Given the description of an element on the screen output the (x, y) to click on. 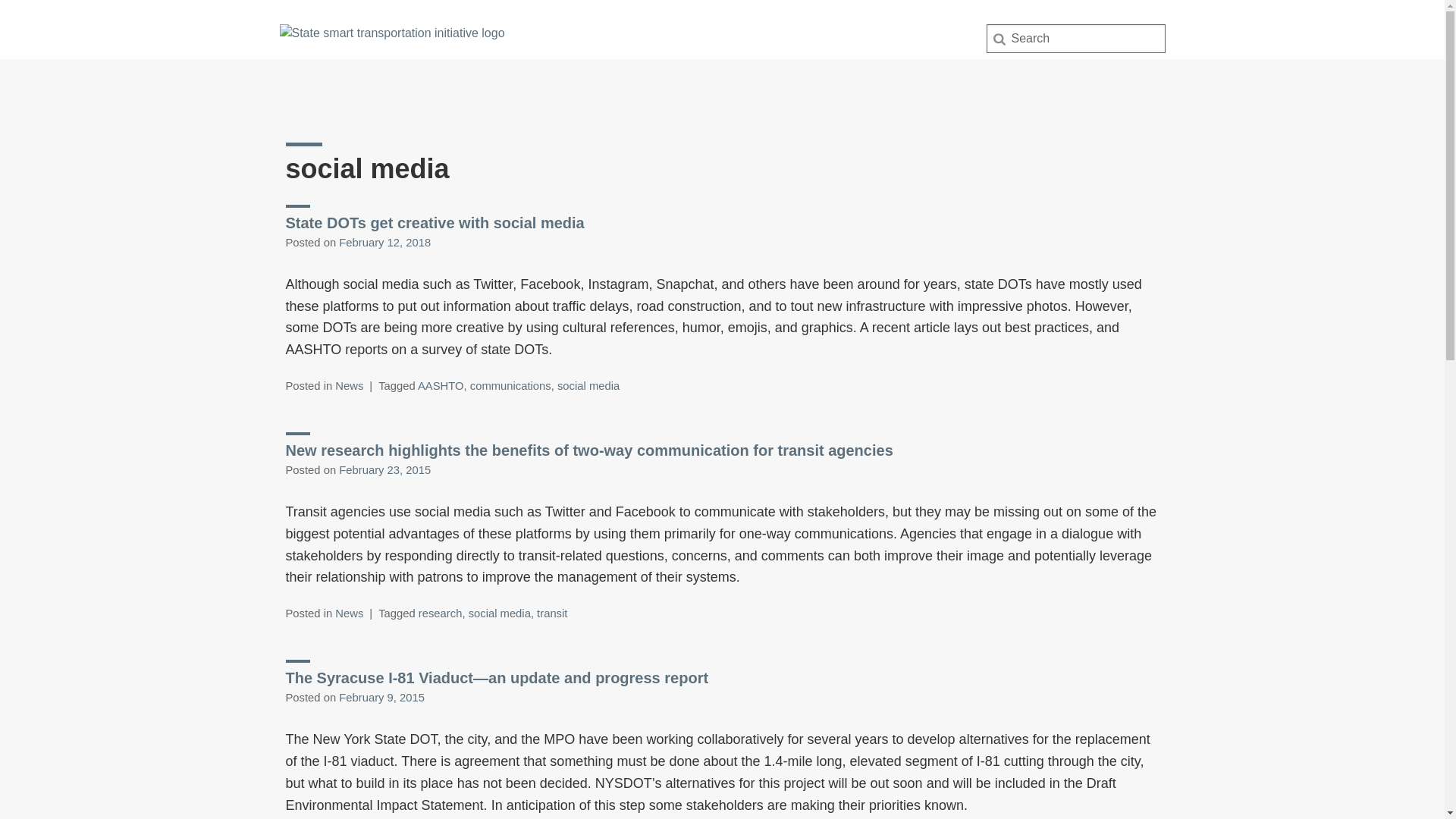
research (441, 613)
transit (552, 613)
AASHTO (440, 386)
State DOTs get creative with social media (434, 222)
Skip to main content (3, 3)
Search (37, 16)
February 23, 2015 (384, 469)
News (348, 613)
News (348, 386)
